Given the description of an element on the screen output the (x, y) to click on. 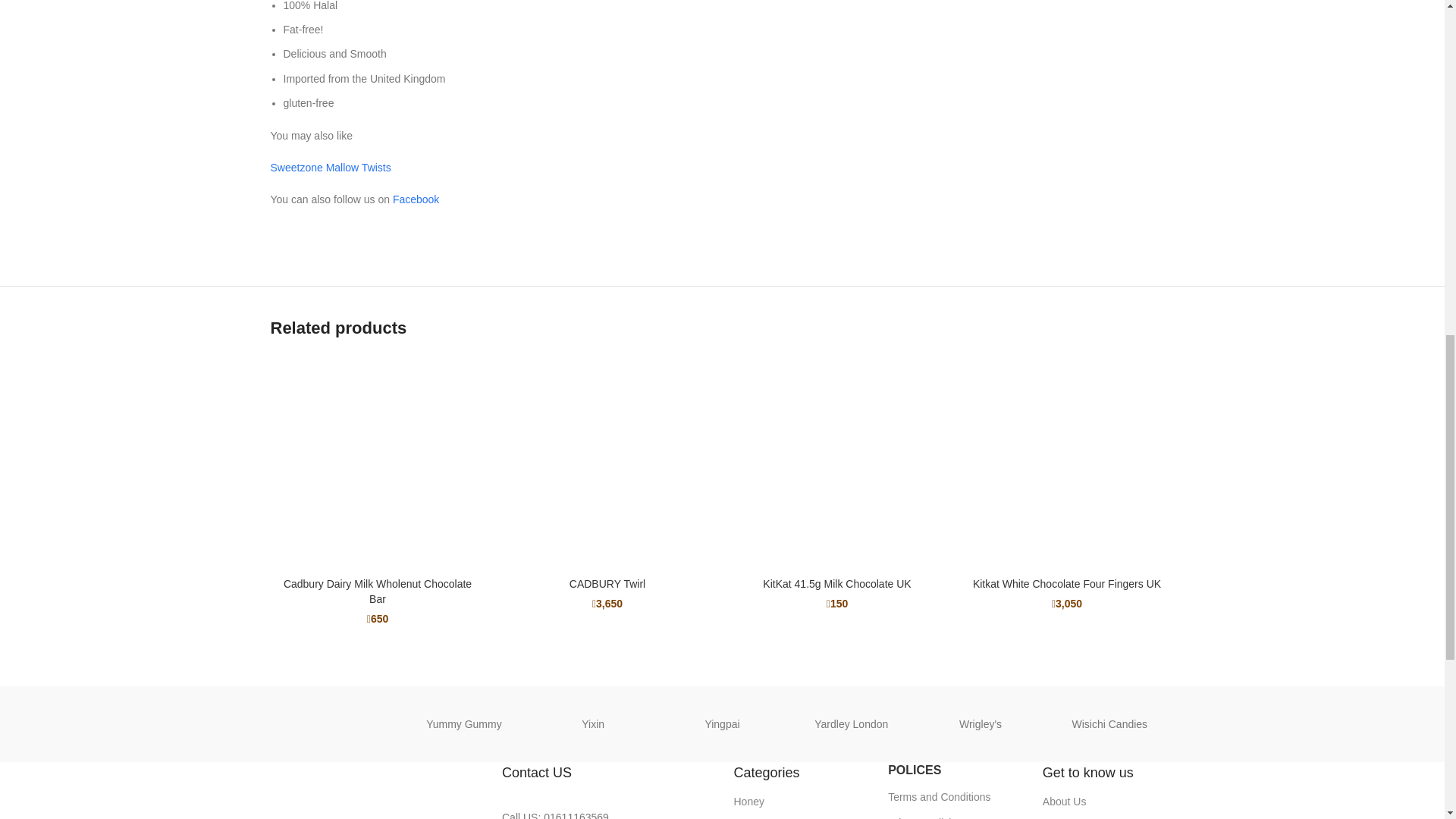
Yupi (334, 723)
Wrigley's (980, 723)
Yupi (333, 724)
Yingpai (721, 723)
Yardley London (851, 723)
Yixin (592, 723)
Yummy Gummy (463, 723)
